Given the description of an element on the screen output the (x, y) to click on. 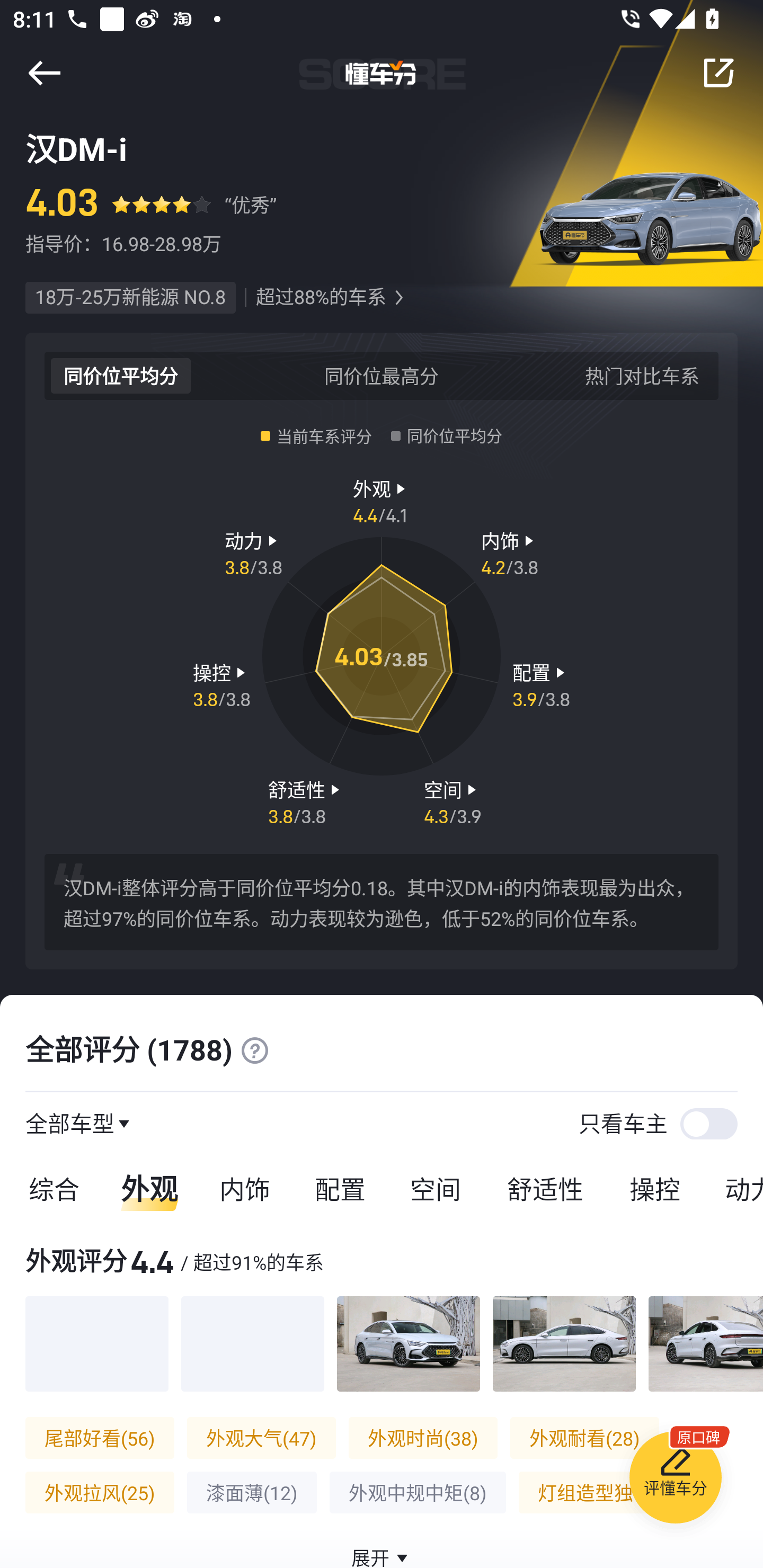
 (44, 72)
 (718, 72)
超过88%的车系 (320, 297)
 (398, 297)
同价位平均分 (120, 375)
同价位最高分 (381, 375)
热门对比车系 (641, 375)
外观  4.4 / 4.1 (381, 500)
动力  3.8 / 3.8 (253, 552)
内饰  4.2 / 3.8 (509, 552)
操控  3.8 / 3.8 (221, 685)
配置  3.9 / 3.8 (540, 685)
舒适性  3.8 / 3.8 (305, 801)
空间  4.3 / 3.9 (452, 801)
 (254, 1050)
全部车型 (69, 1123)
综合 (50, 1188)
内饰 (244, 1188)
配置 (339, 1188)
空间 (434, 1188)
舒适性 (544, 1188)
操控 (654, 1188)
动力 (732, 1188)
尾部好看(56) (99, 1437)
外观大气(47) (260, 1437)
外观时尚(38) (422, 1437)
外观耐看(28) (584, 1437)
 评懂车分 原口碑 (675, 1480)
外观拉风(25) (99, 1492)
漆面薄(12) (251, 1492)
外观中规中矩(8) (417, 1492)
灯组造型独特(6) (606, 1492)
展开  (381, 1546)
